Given the description of an element on the screen output the (x, y) to click on. 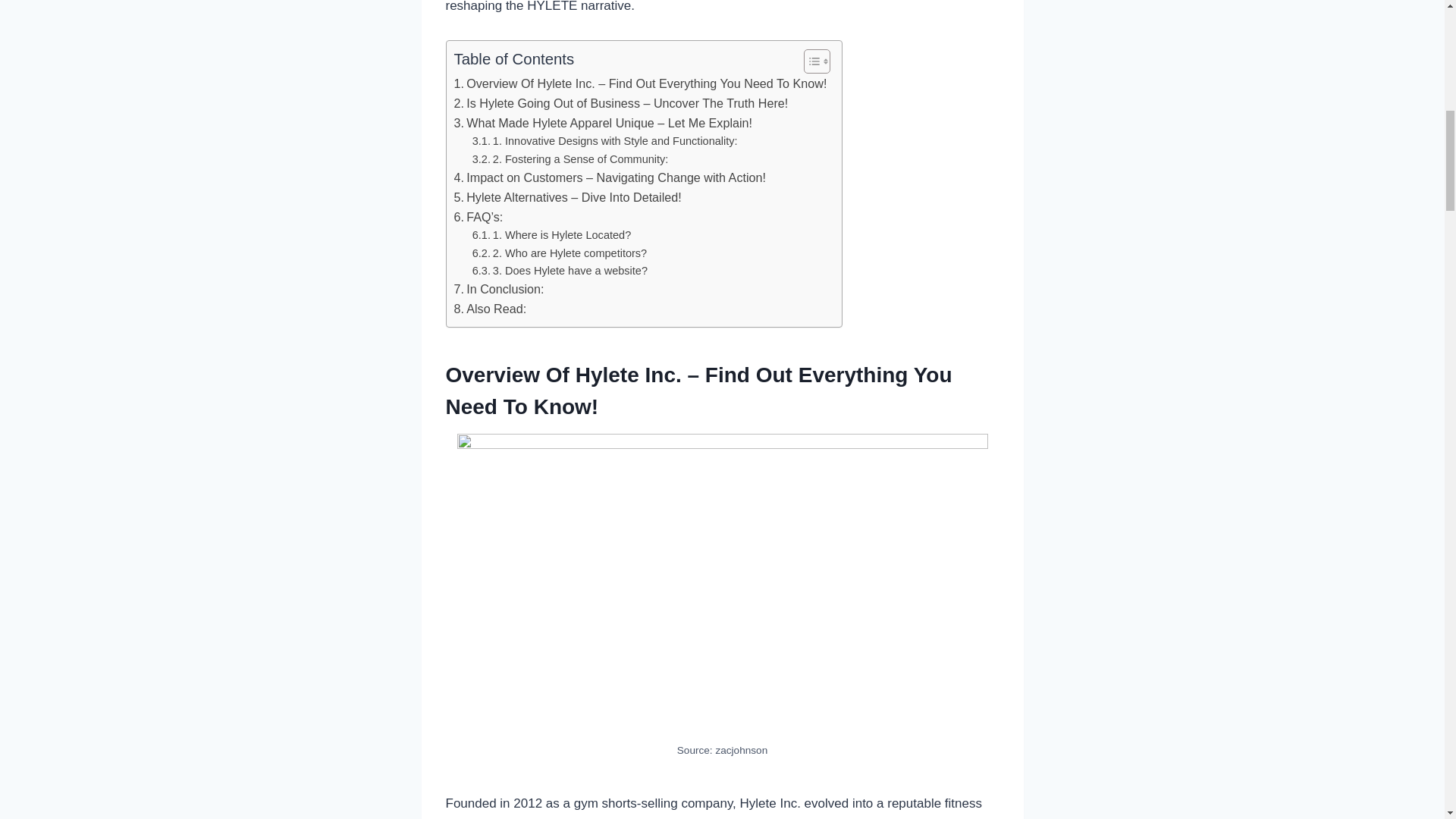
2. Who are Hylete competitors? (558, 253)
1. Innovative Designs with Style and Functionality: (604, 140)
In Conclusion: (497, 289)
1. Where is Hylete Located? (551, 235)
2. Fostering a Sense of Community: (569, 159)
In Conclusion: (497, 289)
3. Does Hylete have a website? (559, 271)
3. Does Hylete have a website? (559, 271)
2. Fostering a Sense of Community: (569, 159)
2. Who are Hylete competitors? (558, 253)
